Given the description of an element on the screen output the (x, y) to click on. 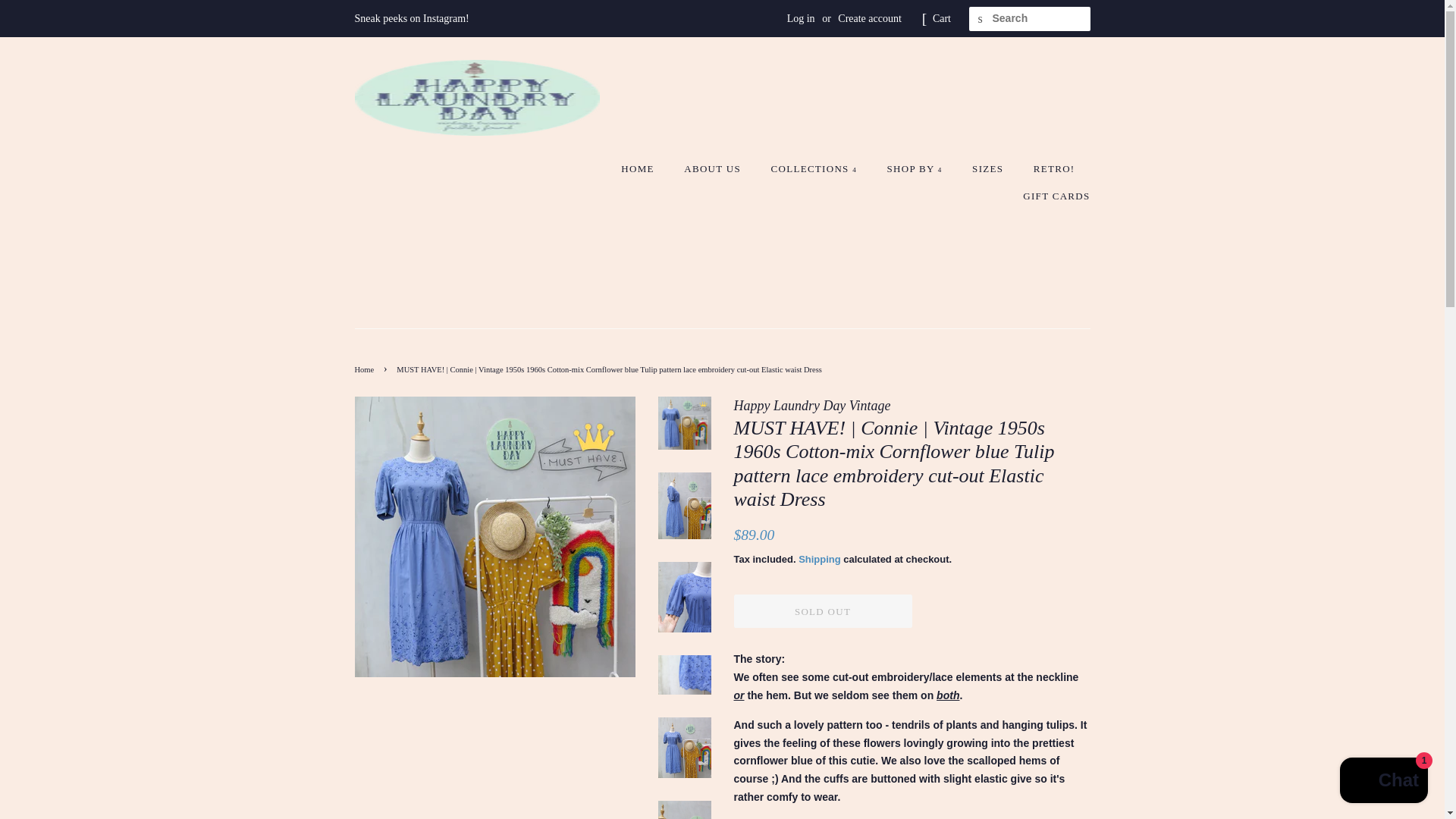
Cart (941, 18)
Log in (801, 18)
Back to the frontpage (366, 369)
Create account (869, 18)
Shopify online store chat (1383, 781)
SEARCH (980, 18)
Sneak peeks on Instagram! (411, 18)
